Given the description of an element on the screen output the (x, y) to click on. 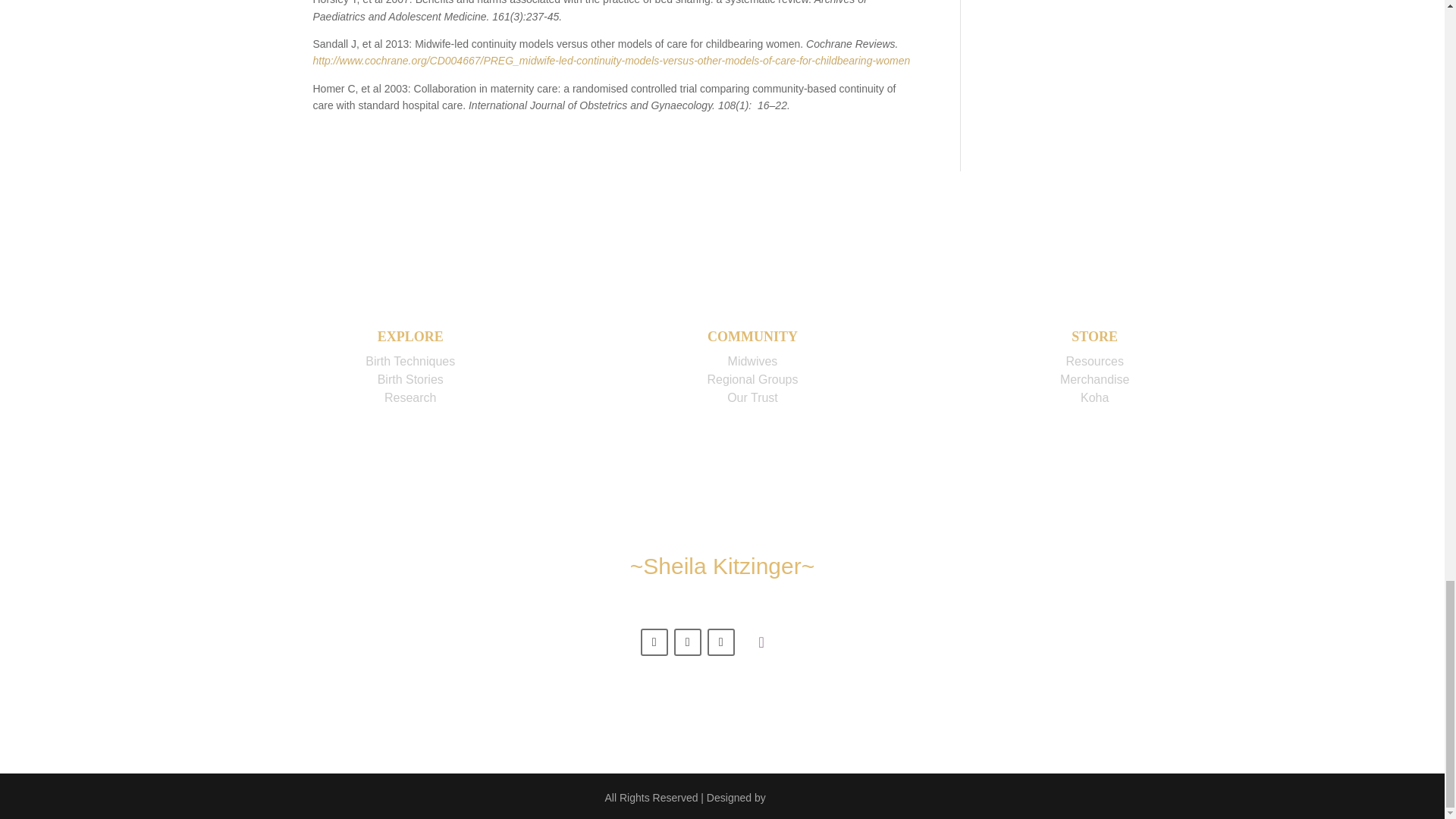
Follow on Pinterest (687, 642)
Follow on Instagram (721, 642)
Birth Techniques (409, 360)
Birth Stories (410, 379)
Follow on Facebook (654, 642)
Birth Culture in NZ header (761, 644)
